Given the description of an element on the screen output the (x, y) to click on. 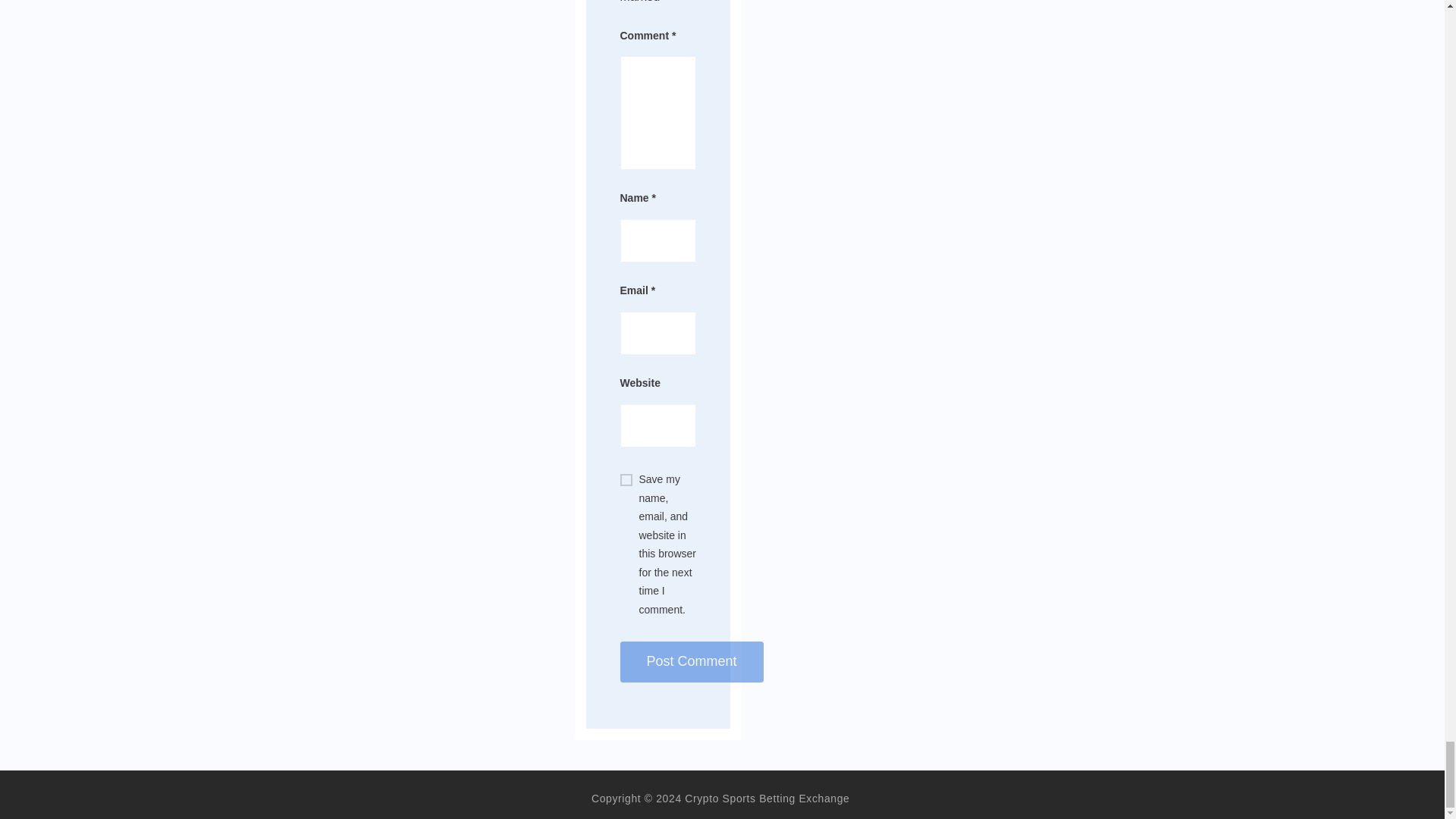
Post Comment (691, 661)
